Given the description of an element on the screen output the (x, y) to click on. 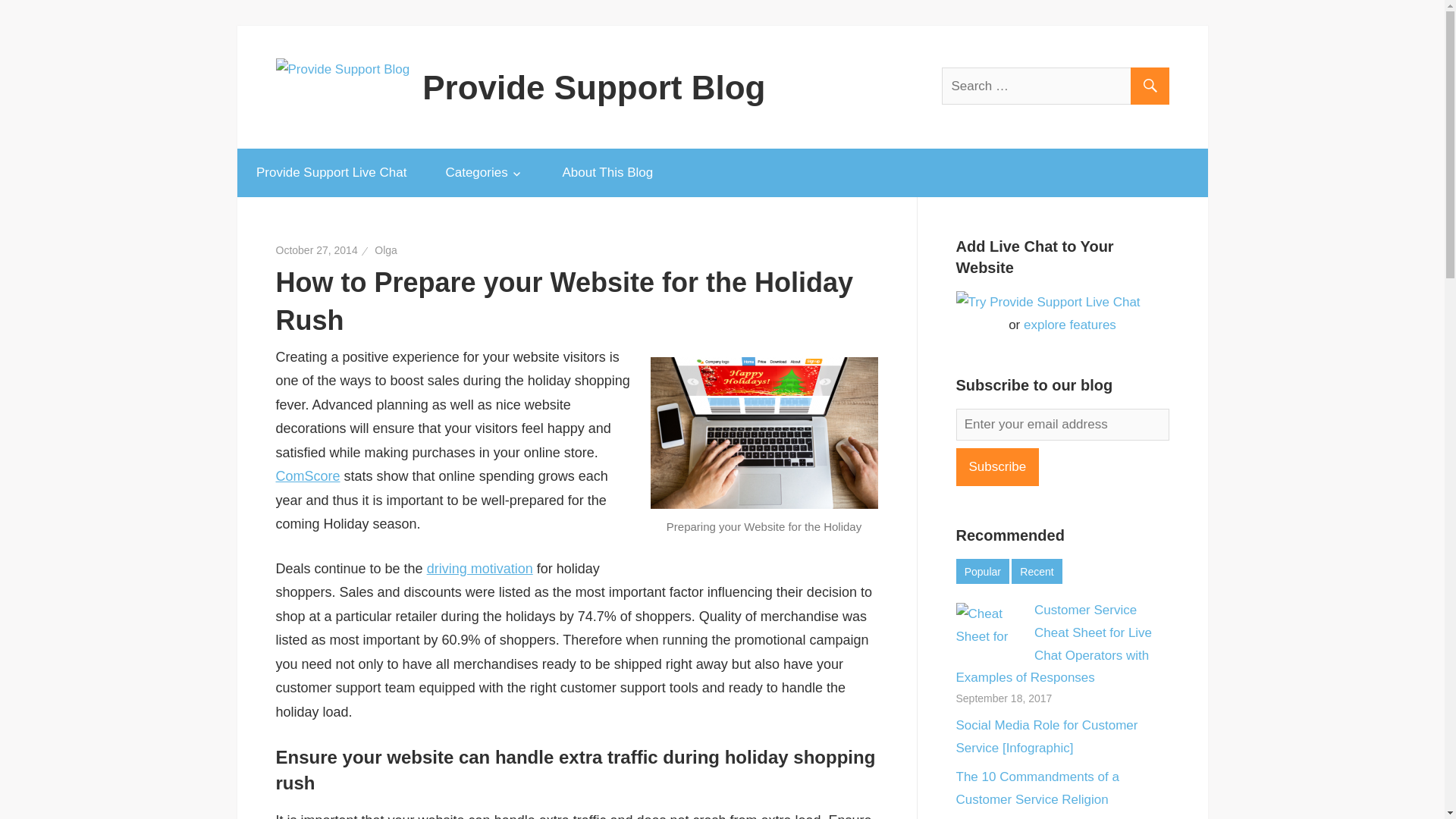
Provide Support Live Chat (330, 172)
ComScore (308, 476)
The 10 Commandments of a Customer Service Religion (1036, 787)
Provide Support Live Chat home page (330, 172)
driving motivation (479, 568)
Subscribe (997, 466)
2:34 pm (317, 250)
ComScore stats (308, 476)
